Given the description of an element on the screen output the (x, y) to click on. 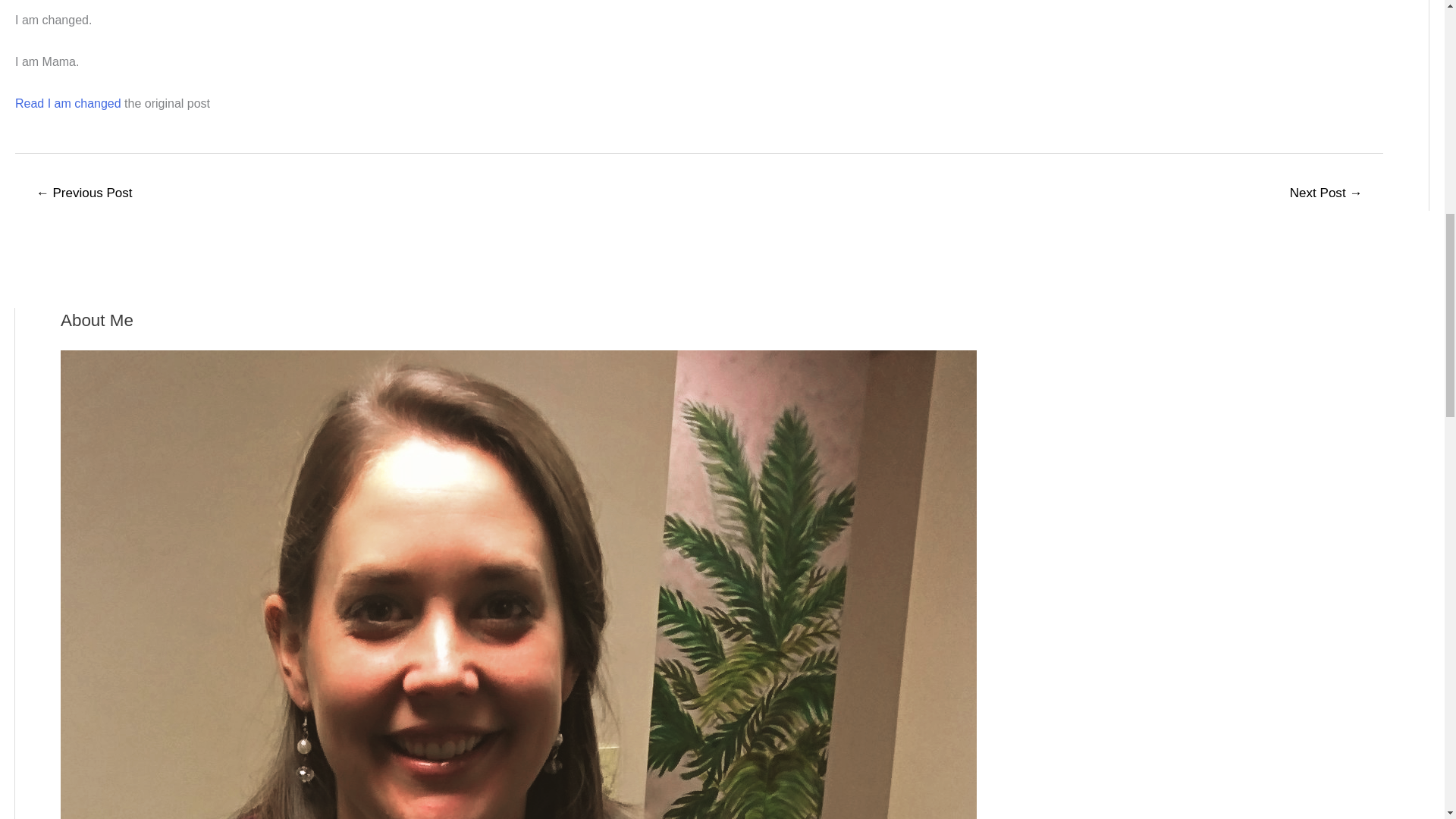
Read I am changed (67, 103)
